Given the description of an element on the screen output the (x, y) to click on. 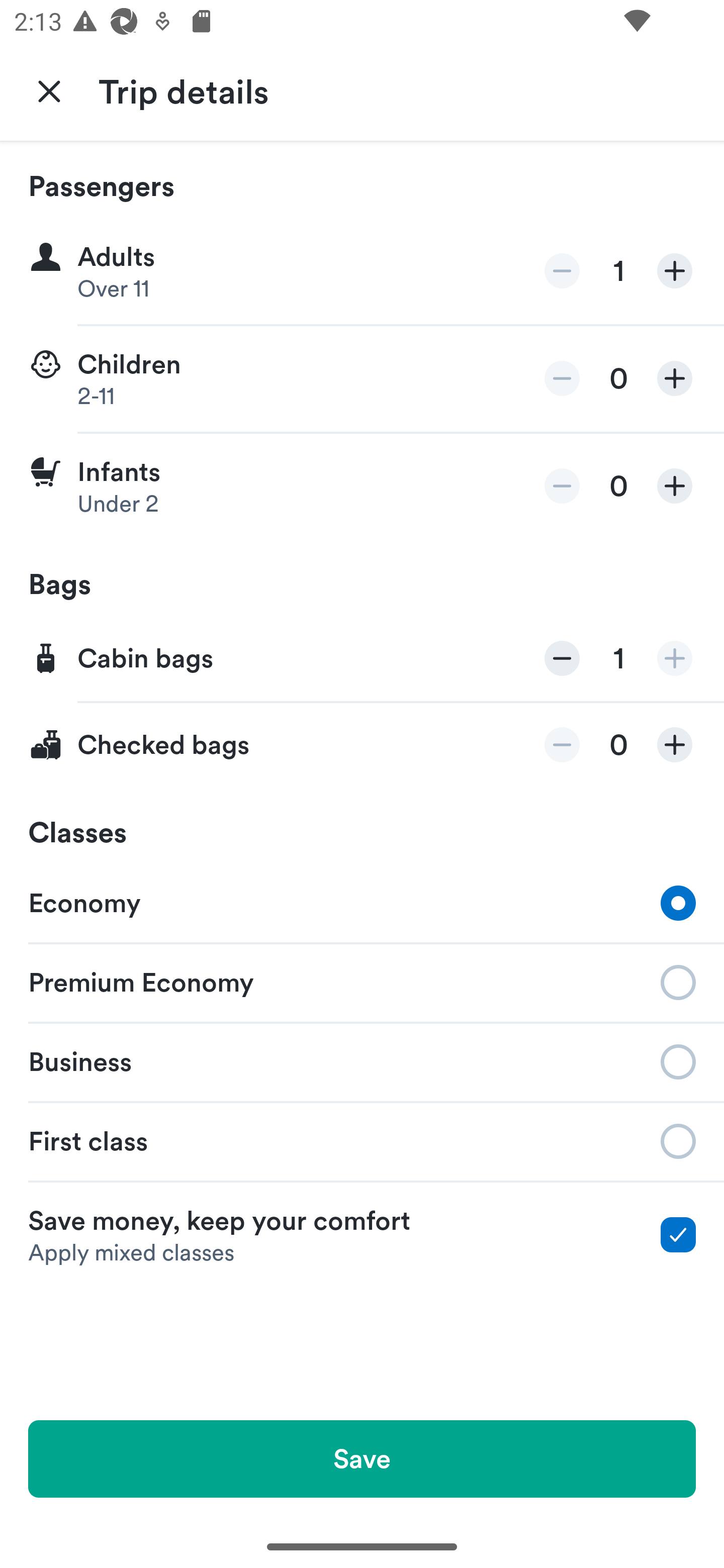
Navigate up (49, 90)
Remove 1 Add Adults Over 11 (362, 271)
Remove (561, 270)
Add (674, 270)
Remove 0 Add Children 2-11 (362, 379)
Remove (561, 377)
Add (674, 377)
Remove 0 Add Infants Under 2 (362, 485)
Remove (561, 485)
Add (674, 485)
Remove 1 Add Cabin bags (362, 659)
Remove (561, 658)
Add (674, 658)
Remove 0 Add Checked bags (362, 744)
Remove (561, 744)
Add (674, 744)
Premium Economy (362, 980)
Business (362, 1060)
First class (362, 1141)
Save (361, 1458)
